Given the description of an element on the screen output the (x, y) to click on. 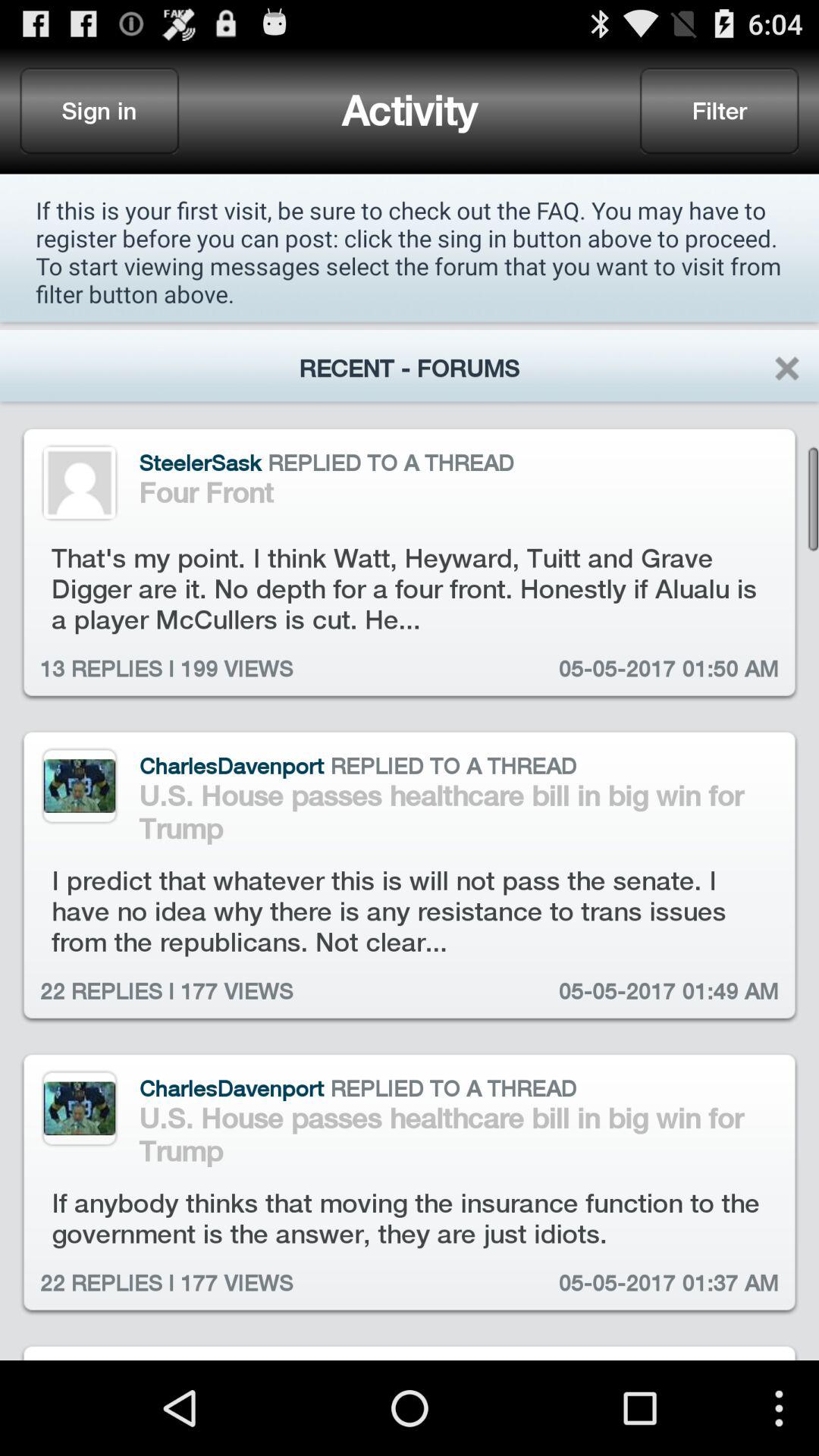
view profile (79, 482)
